Given the description of an element on the screen output the (x, y) to click on. 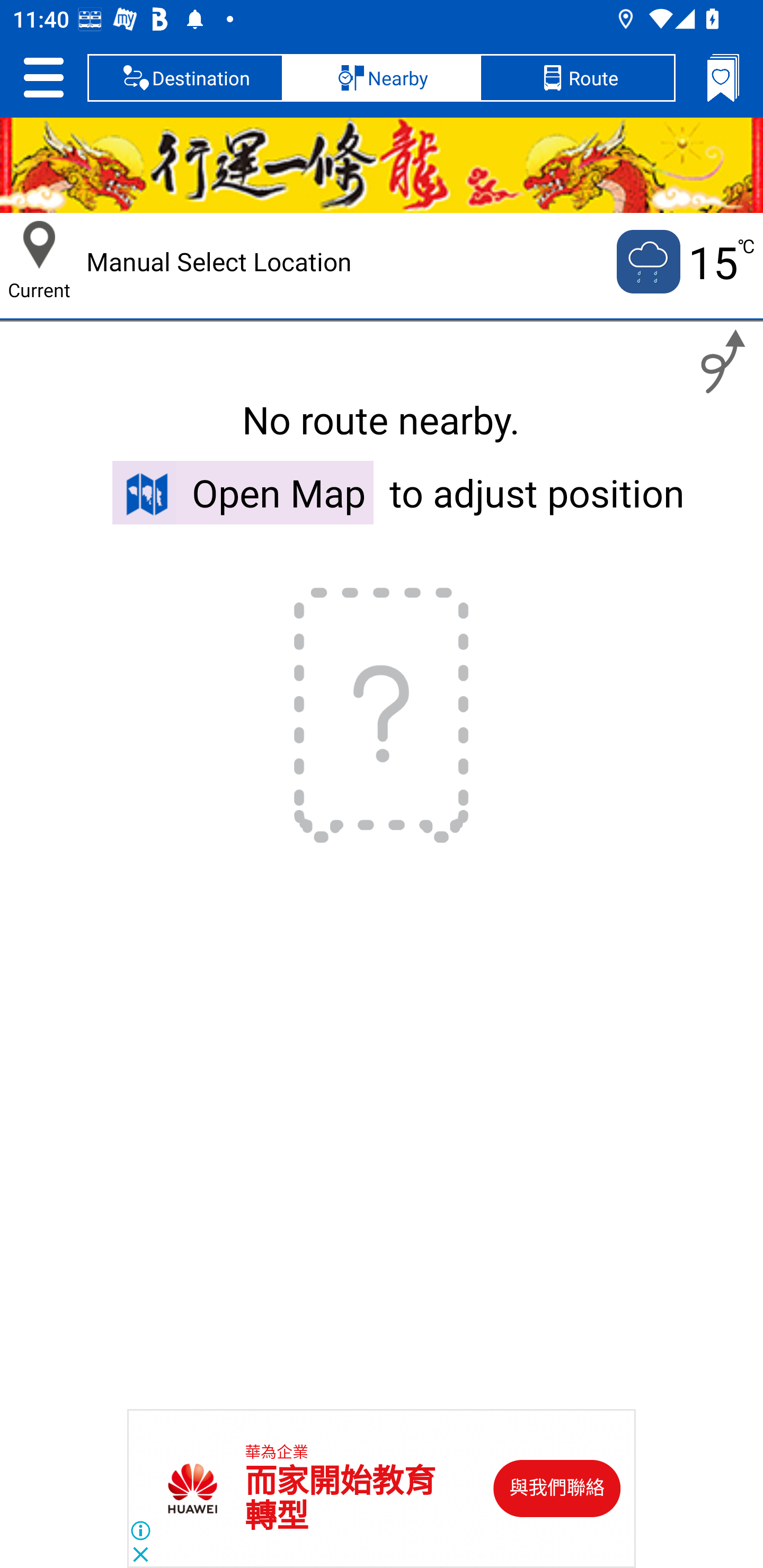
Destination (185, 77)
Nearby, selected (381, 77)
Route (577, 77)
Bookmarks (723, 77)
Setting (43, 77)
Lunar New Year 2024 (381, 165)
Current Location (38, 244)
Current temputure is  15  no 15 ℃ (684, 261)
Open Map (242, 491)
華為企業 (276, 1452)
與我們聯絡 (556, 1488)
而家開始教育 轉型 而家開始教育 轉型 (339, 1498)
